Given the description of an element on the screen output the (x, y) to click on. 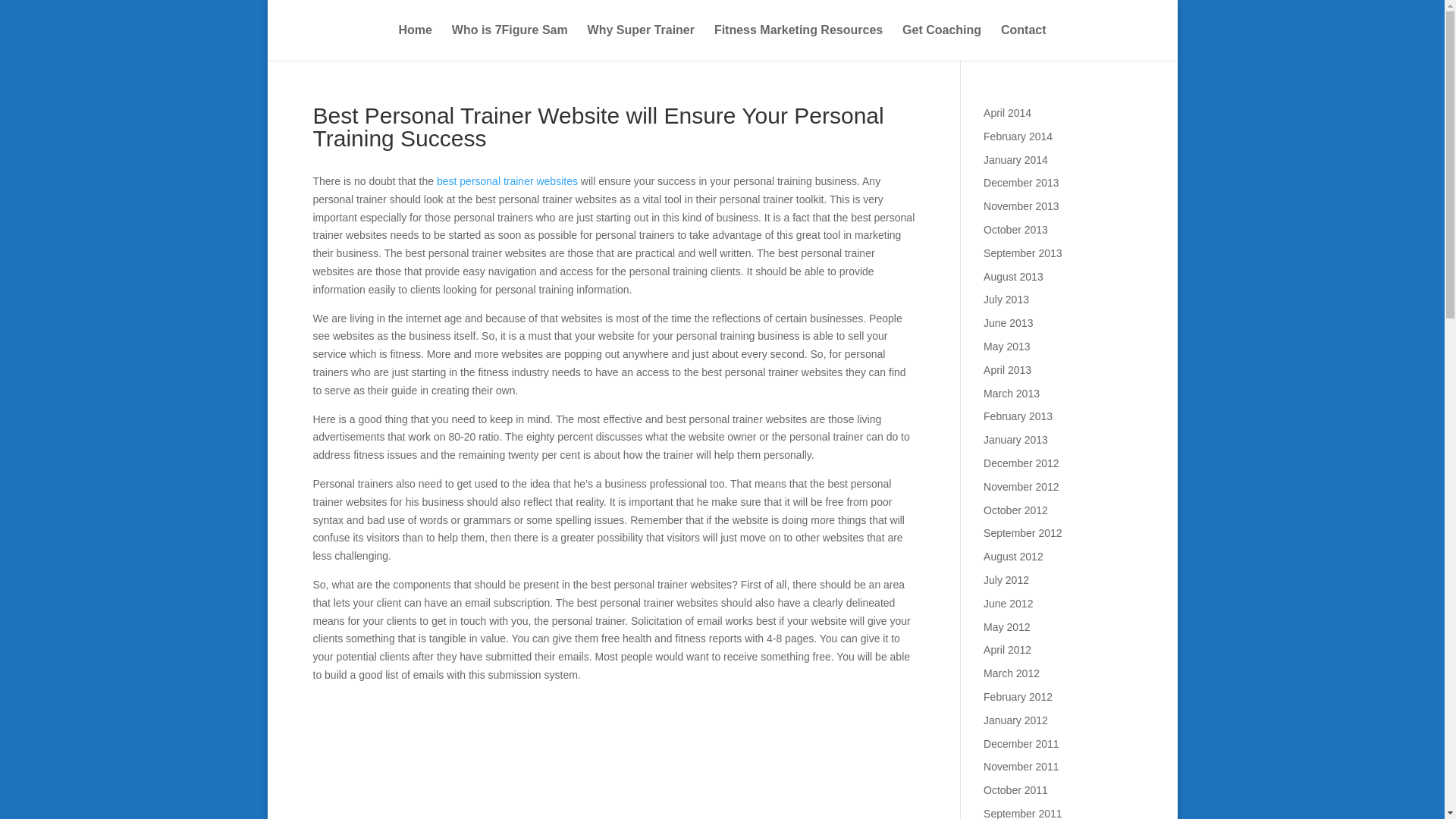
March 2013 (1011, 393)
November 2013 (1021, 205)
December 2011 (1021, 743)
Home (413, 42)
November 2011 (1021, 766)
April 2014 (1007, 112)
March 2012 (1011, 673)
October 2013 (1016, 229)
October 2011 (1016, 789)
January 2012 (1016, 720)
